Given the description of an element on the screen output the (x, y) to click on. 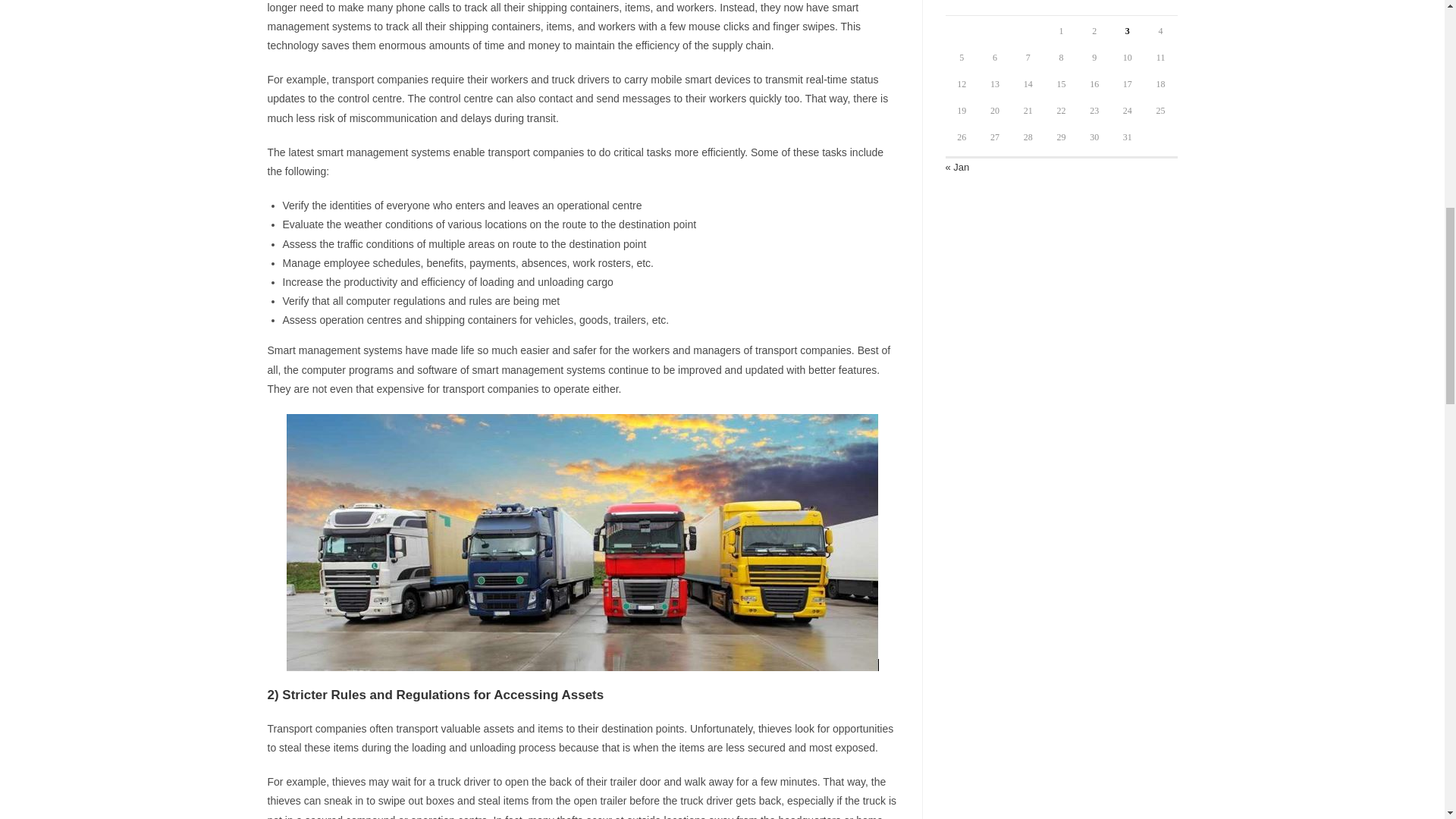
Thursday (1061, 7)
Sunday (1160, 7)
Friday (1093, 7)
Saturday (1127, 7)
Wednesday (1028, 7)
Tuesday (994, 7)
Monday (961, 7)
